Given the description of an element on the screen output the (x, y) to click on. 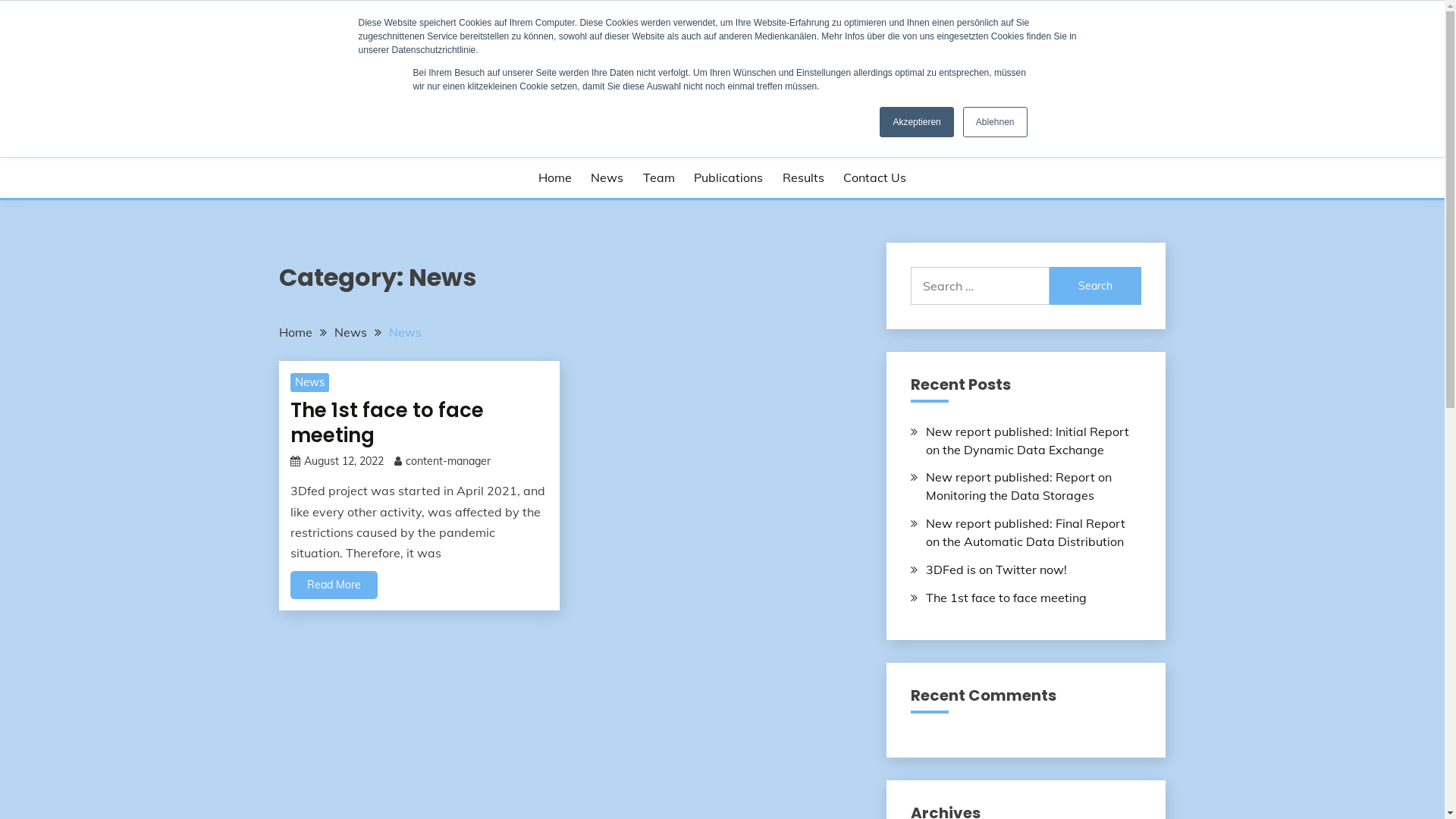
News Element type: text (349, 331)
3DFed is on Twitter now! Element type: text (995, 569)
The 1st face to face meeting Element type: text (1005, 597)
Read More Element type: text (332, 585)
Team Element type: text (658, 177)
Search Element type: text (1095, 285)
Akzeptieren Element type: text (916, 121)
The 1st face to face meeting Element type: text (386, 422)
Home Element type: text (295, 331)
News Element type: text (308, 382)
Publications Element type: text (727, 177)
New report published: Report on Monitoring the Data Storages Element type: text (1018, 485)
Home Element type: text (554, 177)
Contact Us Element type: text (874, 177)
content-manager Element type: text (446, 460)
August 12, 2022 Element type: text (342, 460)
News Element type: text (404, 331)
Results Element type: text (803, 177)
News Element type: text (606, 177)
Ablehnen Element type: text (995, 121)
